Given the description of an element on the screen output the (x, y) to click on. 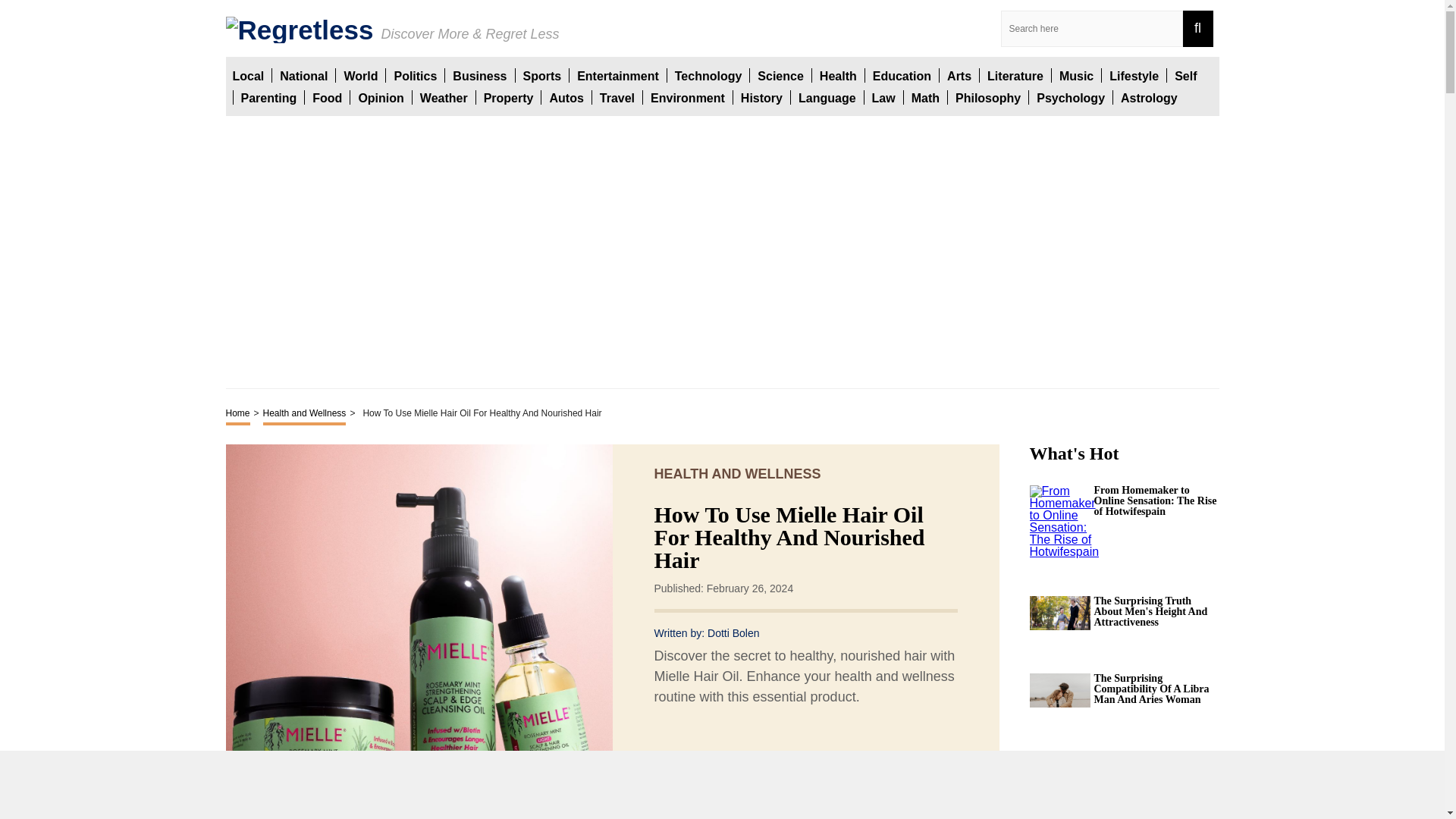
Sports (542, 74)
Opinion (380, 97)
Parenting (269, 97)
Politics (414, 74)
Self (1185, 74)
Food (327, 97)
Literature (1015, 74)
Astrology (1149, 97)
Language (826, 97)
Arts (959, 74)
Technology (708, 74)
Travel (616, 97)
History (762, 97)
Science (780, 74)
Autos (565, 97)
